Given the description of an element on the screen output the (x, y) to click on. 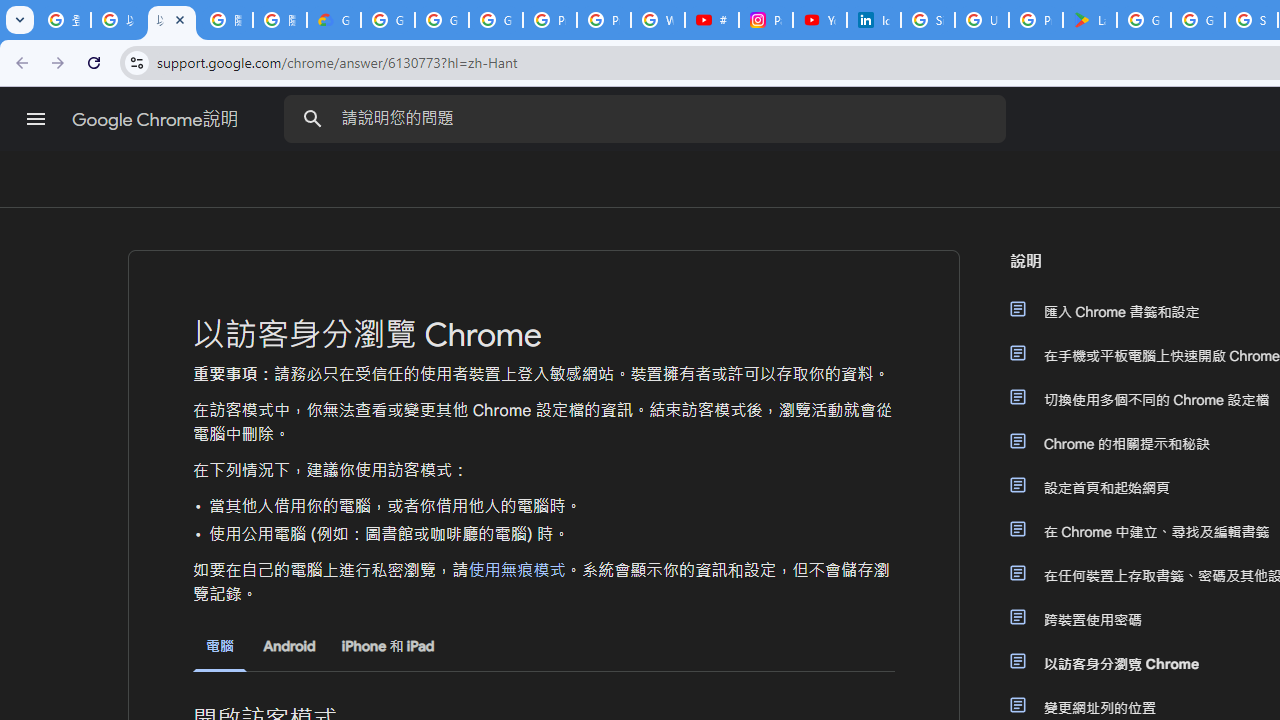
Sign in - Google Accounts (927, 20)
